Given the description of an element on the screen output the (x, y) to click on. 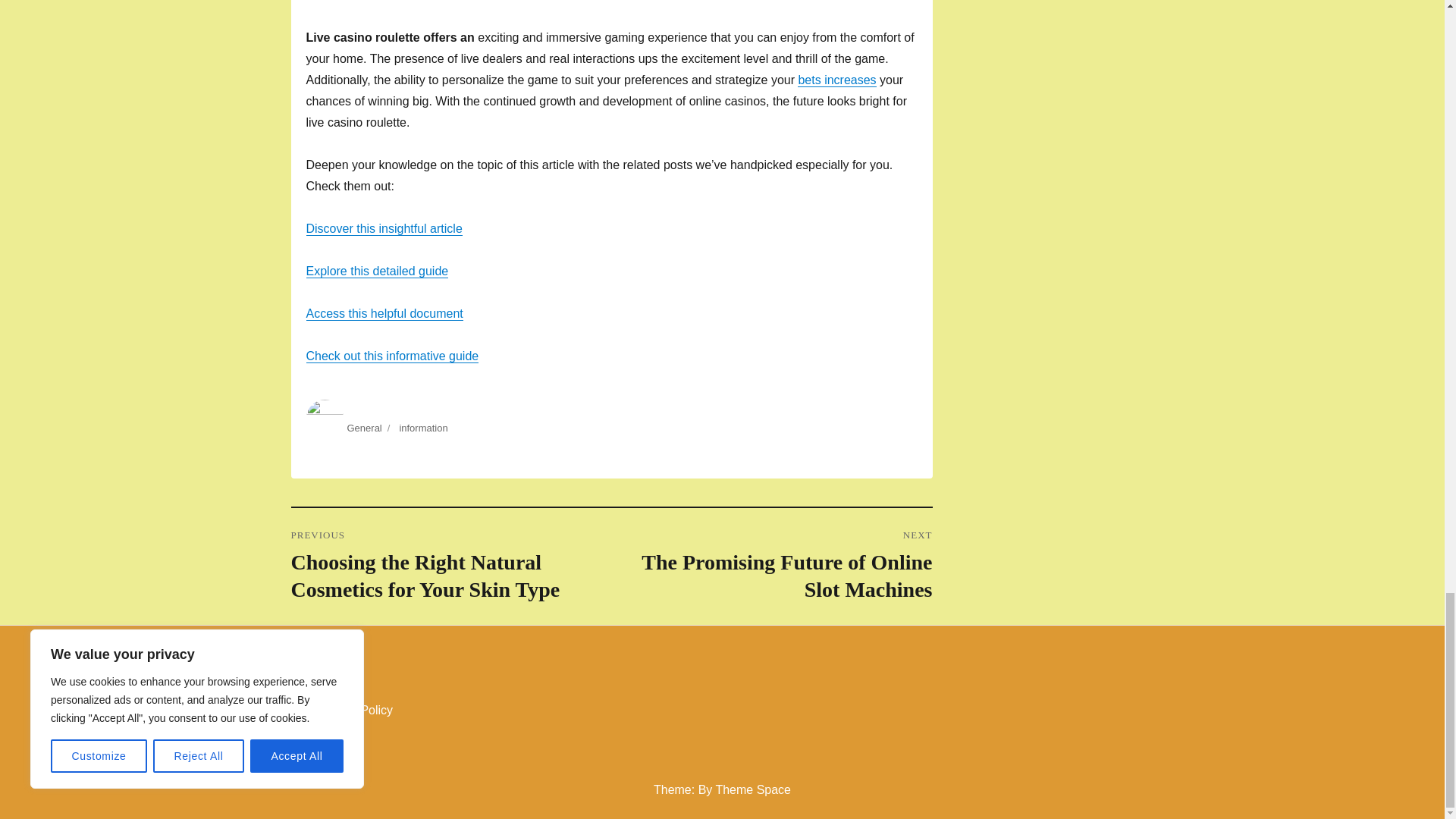
information (422, 428)
Check out this informative guide (392, 355)
Discover this insightful article (384, 228)
bets increases (836, 79)
General (364, 428)
Access this helpful document (771, 565)
Explore this detailed guide (384, 313)
